Given the description of an element on the screen output the (x, y) to click on. 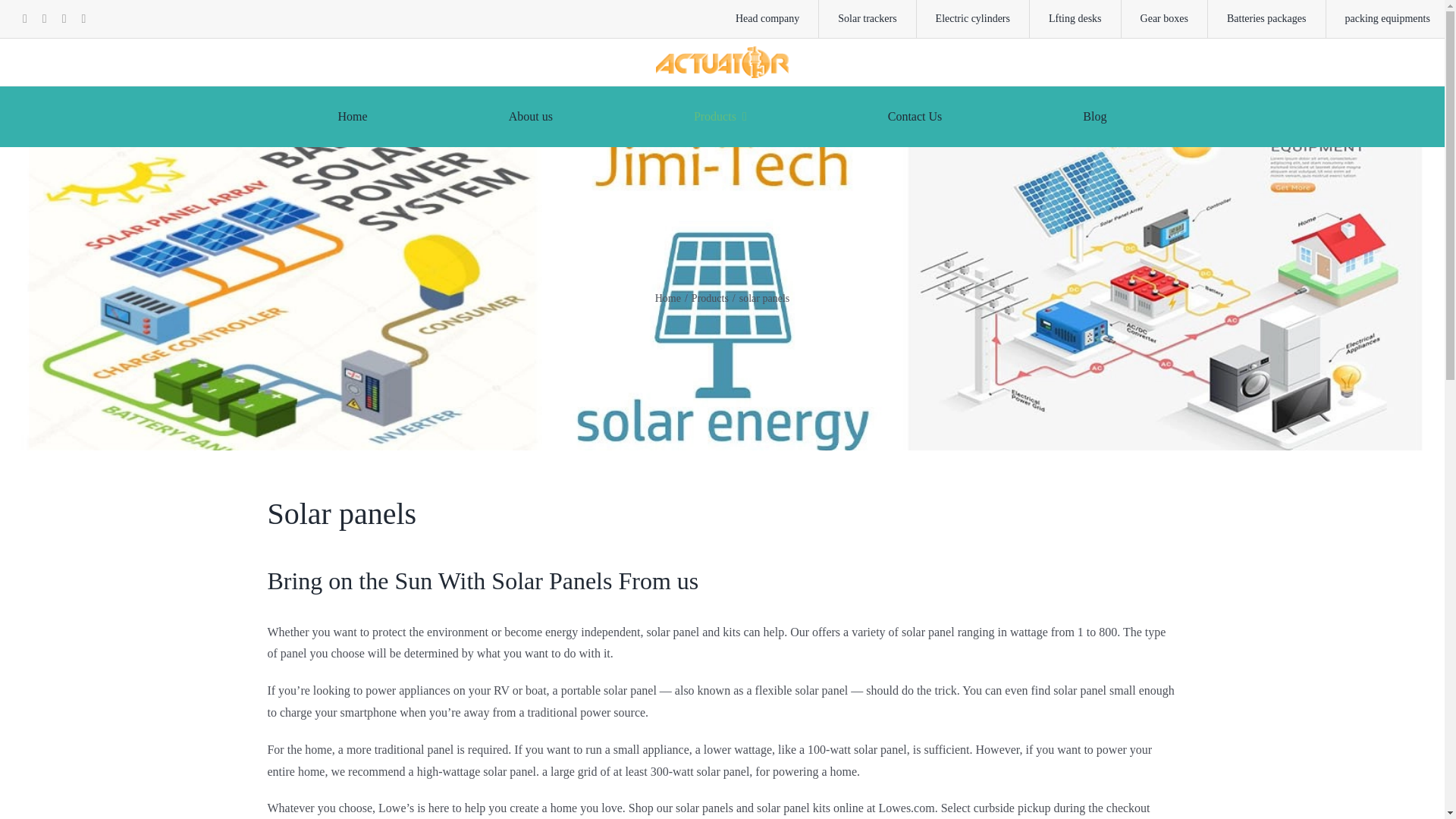
Batteries packages (1267, 18)
Electric cylinders (973, 18)
Gear boxes (1164, 18)
Products (710, 297)
Home (668, 297)
Solar trackers (866, 18)
Blog (1094, 116)
Home (351, 116)
About us (530, 116)
Products (720, 116)
Contact Us (914, 116)
Lfting desks (1075, 18)
Head company (767, 18)
